Given the description of an element on the screen output the (x, y) to click on. 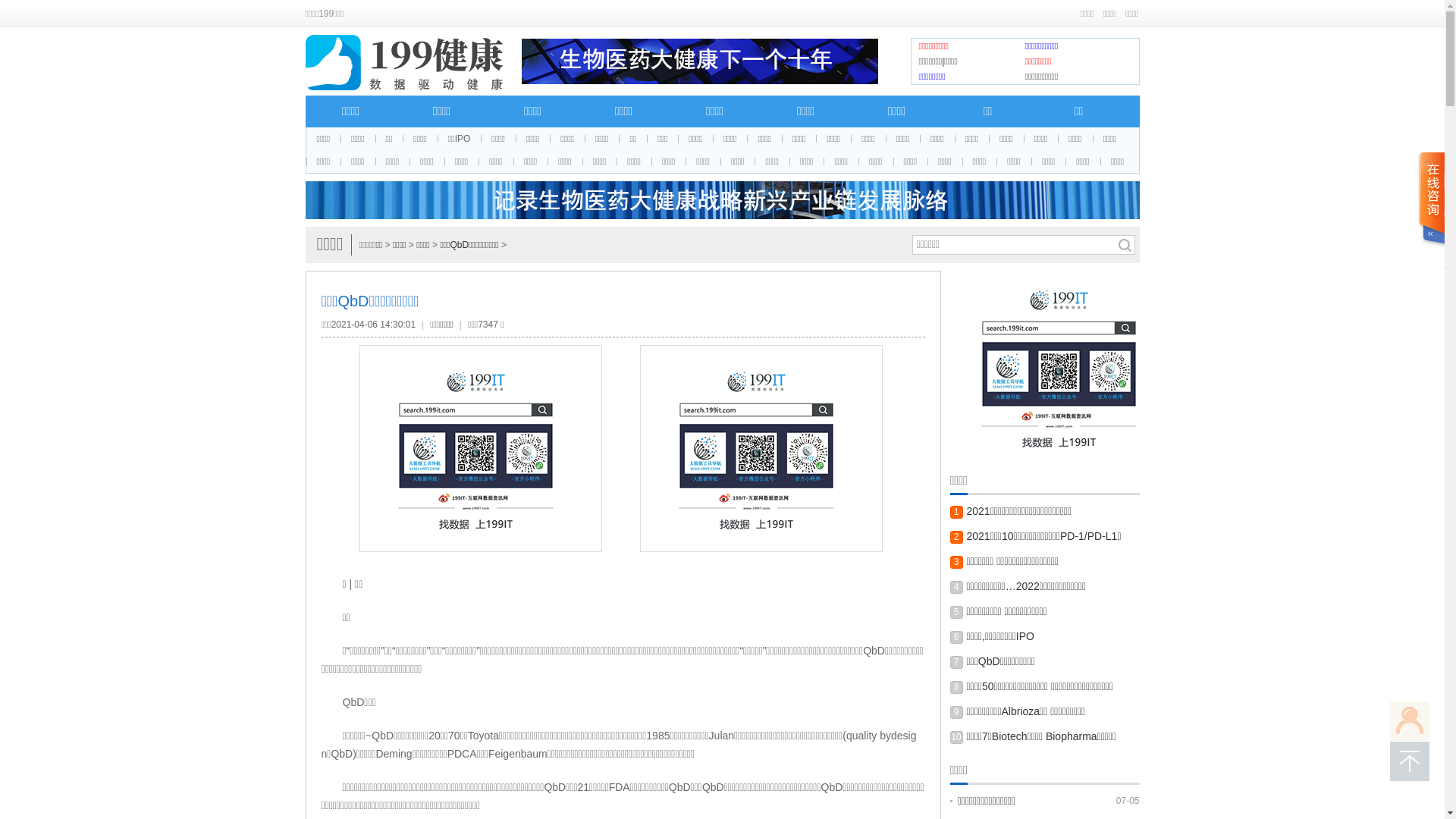
  Element type: text (1430, 210)
